Given the description of an element on the screen output the (x, y) to click on. 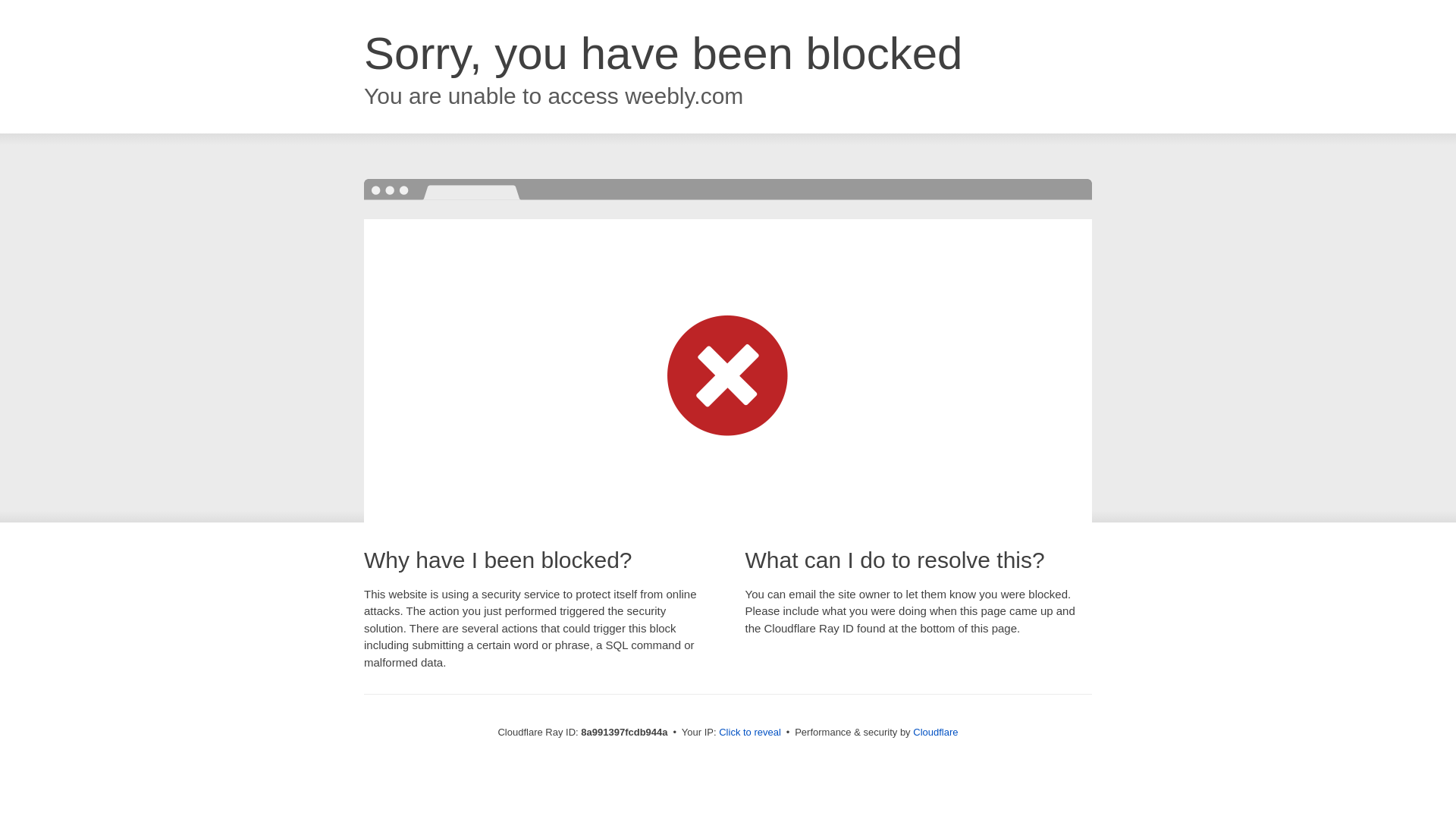
Click to reveal (749, 732)
Cloudflare (935, 731)
